Given the description of an element on the screen output the (x, y) to click on. 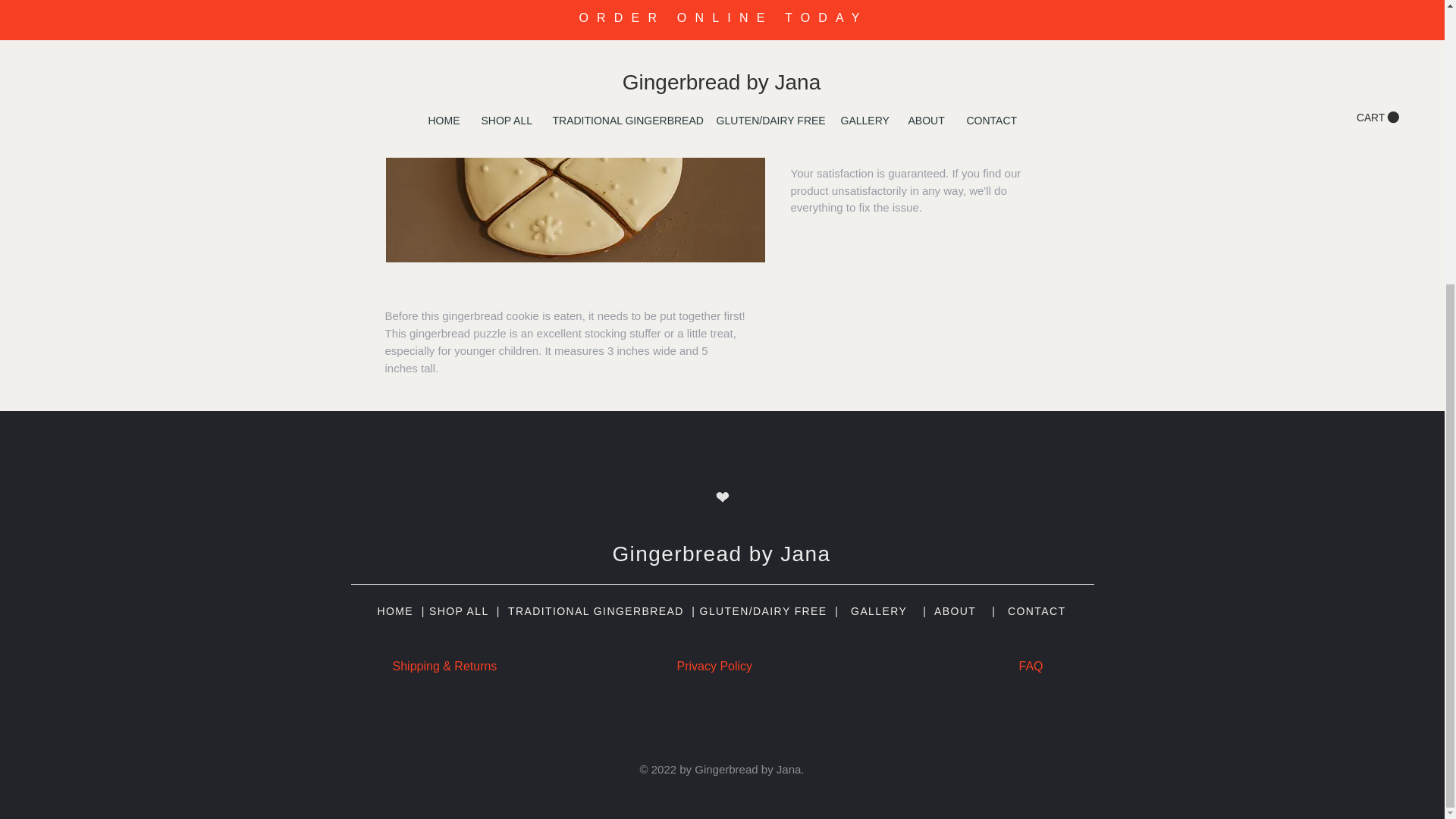
Gingerbread by Jana (720, 553)
ABOUT (954, 611)
FAQ (1029, 666)
Return policy (924, 145)
Privacy Policy (714, 666)
SHOP ALL (458, 611)
GALLERY (878, 611)
TRADITIONAL GINGERBREAD (596, 611)
HOME (395, 611)
Pick up only. (924, 29)
